Given the description of an element on the screen output the (x, y) to click on. 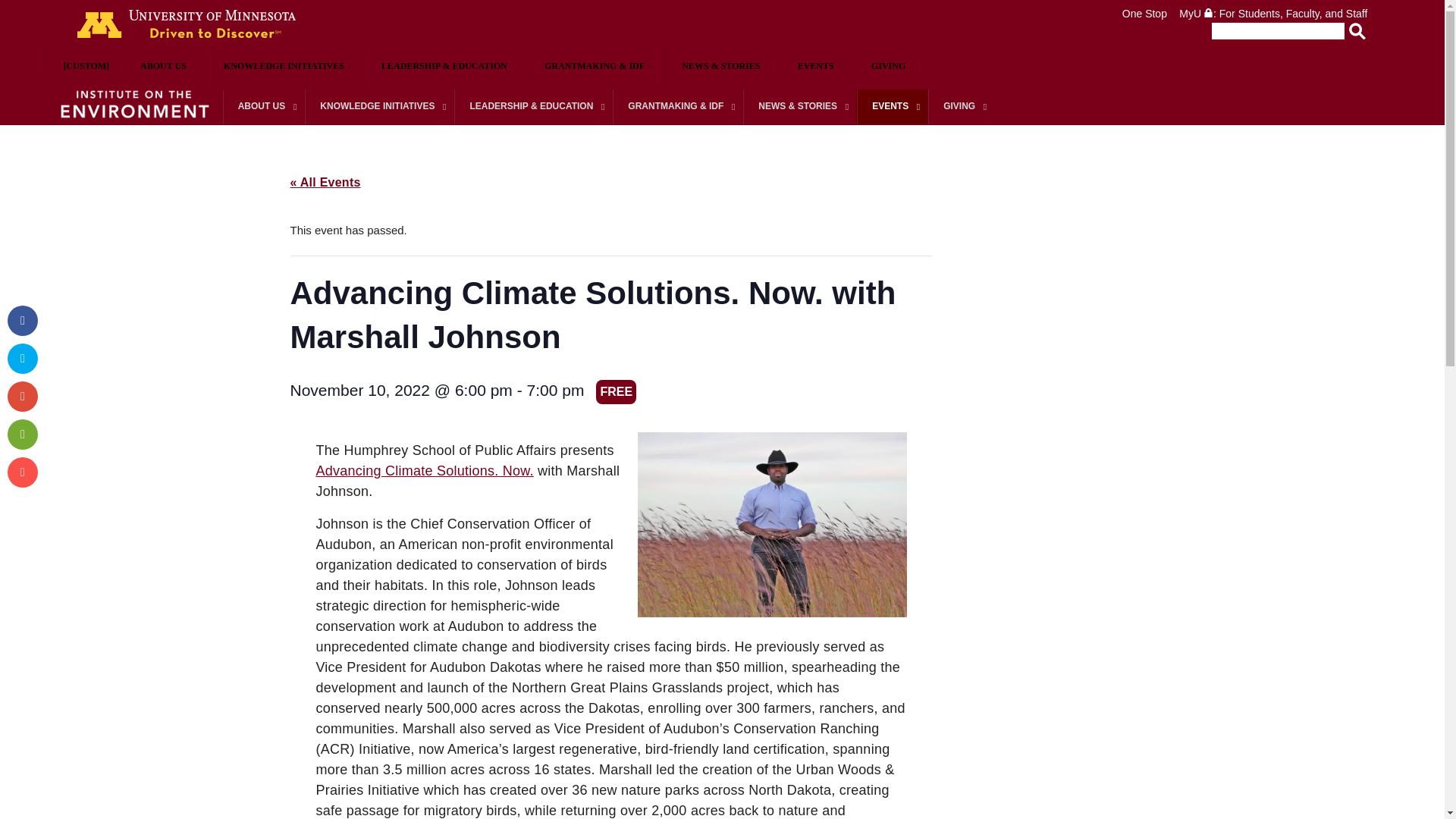
MyU : For Students, Faculty, and Staff (1273, 13)
One Stop (1144, 13)
Search Websites and People (1272, 30)
